Given the description of an element on the screen output the (x, y) to click on. 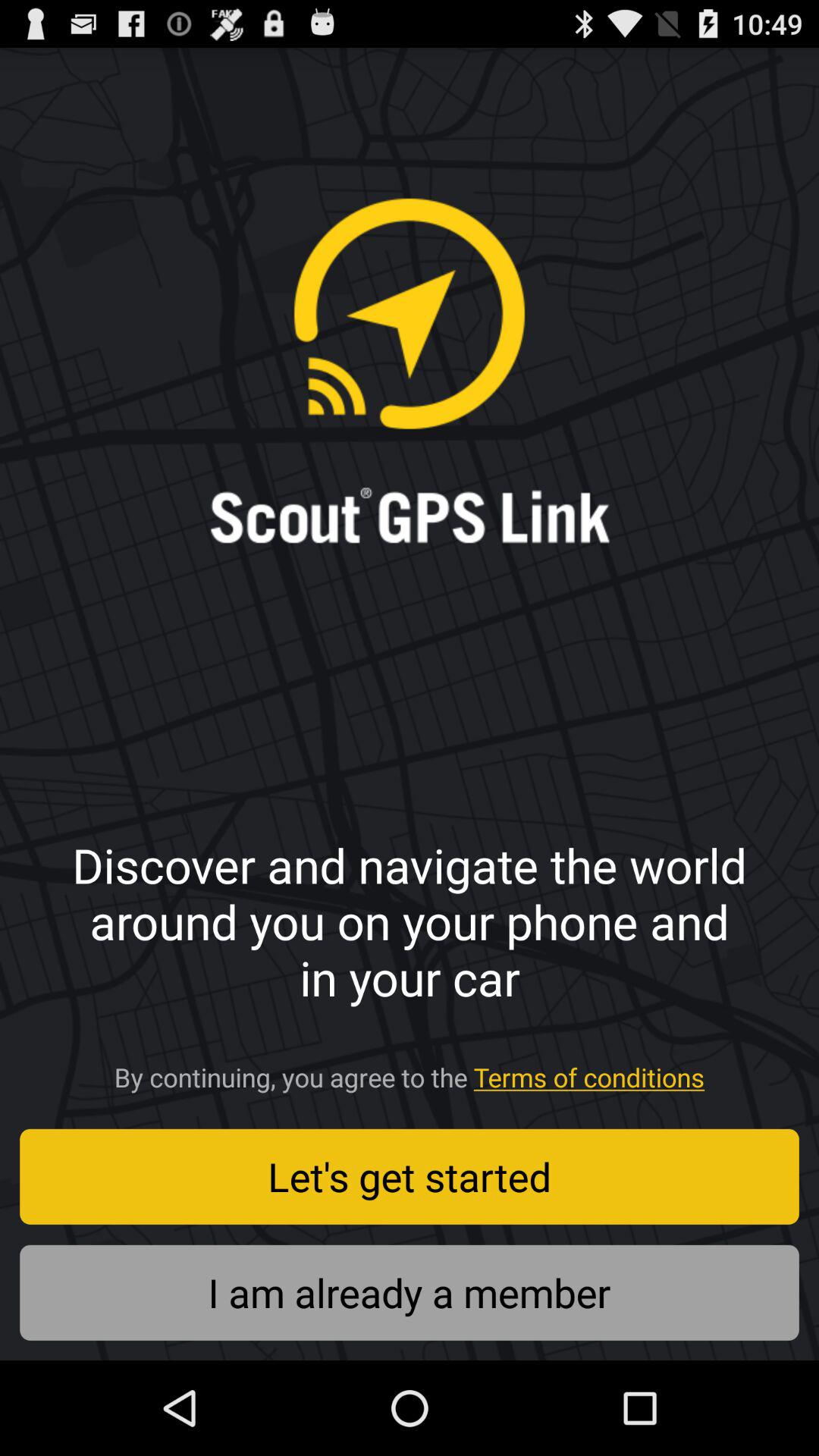
turn off i am already item (409, 1292)
